Given the description of an element on the screen output the (x, y) to click on. 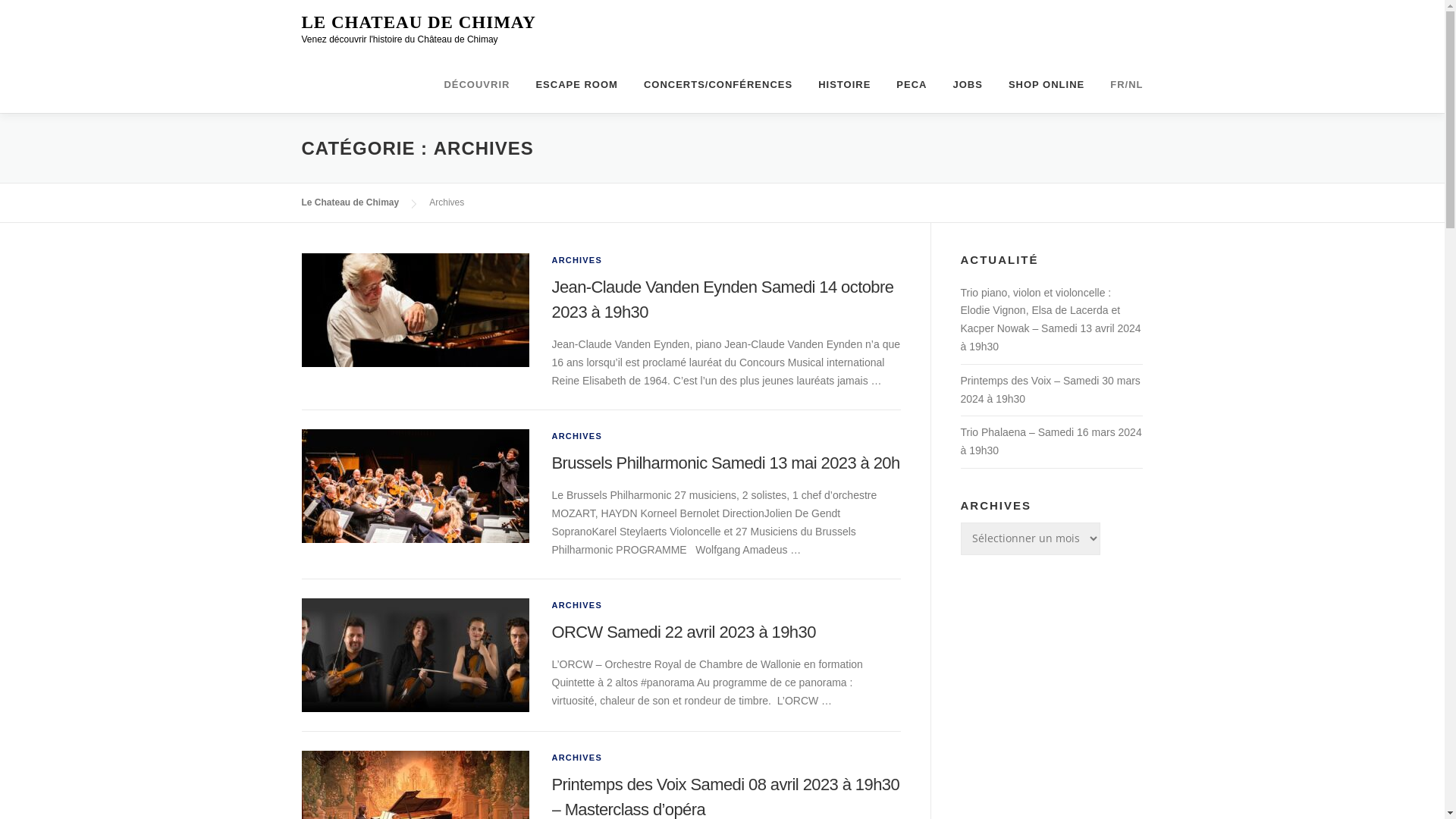
JOBS Element type: text (966, 84)
PECA Element type: text (911, 84)
ARCHIVES Element type: text (577, 259)
HISTOIRE Element type: text (844, 84)
ARCHIVES Element type: text (577, 604)
ARCHIVES Element type: text (577, 435)
ESCAPE ROOM Element type: text (576, 84)
FR/NL Element type: text (1119, 84)
SHOP ONLINE Element type: text (1046, 84)
ARCHIVES Element type: text (577, 757)
LE CHATEAU DE CHIMAY Element type: text (418, 21)
Le Chateau de Chimay Element type: text (350, 202)
